Given the description of an element on the screen output the (x, y) to click on. 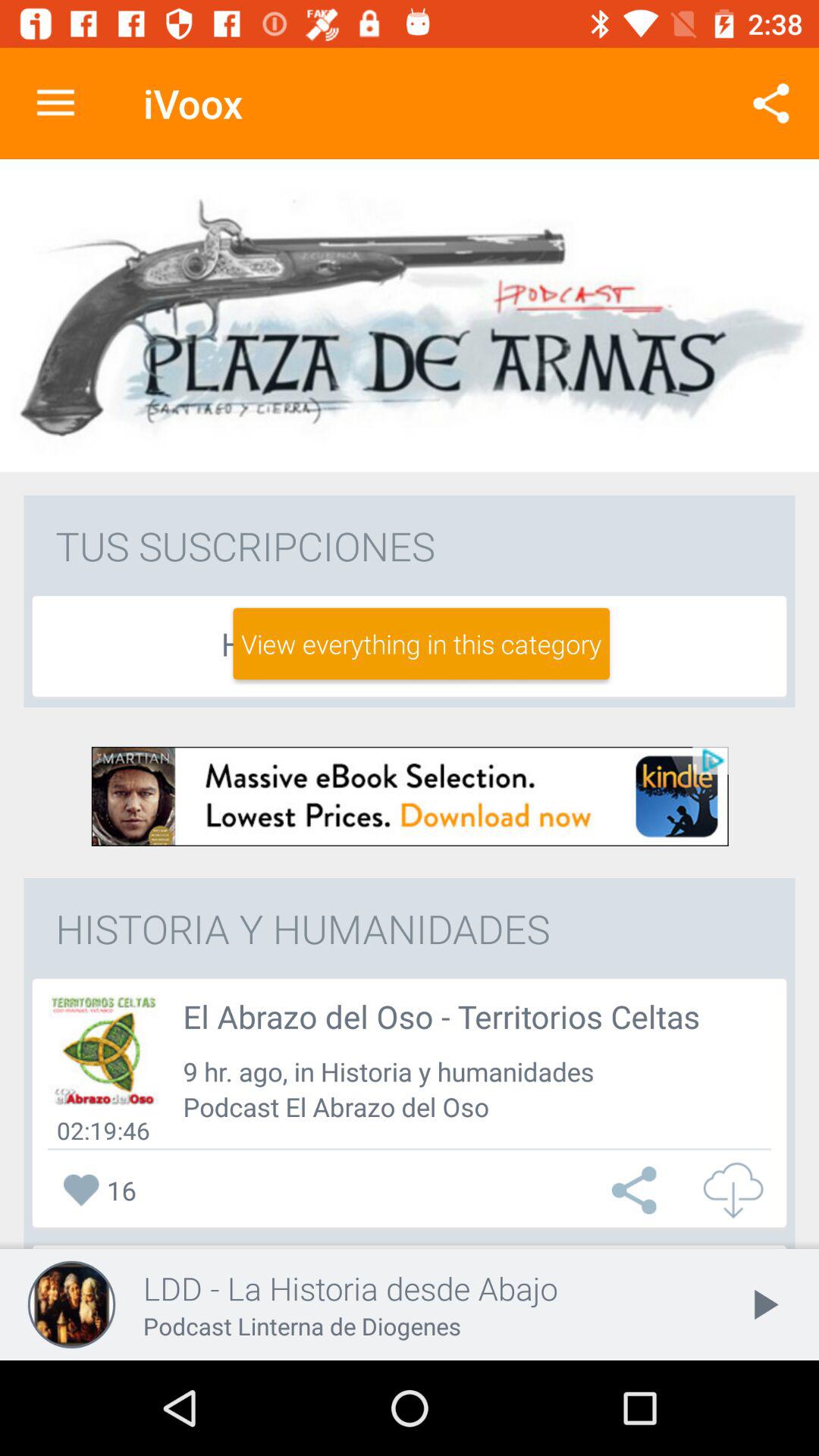
advertisement (409, 796)
